Given the description of an element on the screen output the (x, y) to click on. 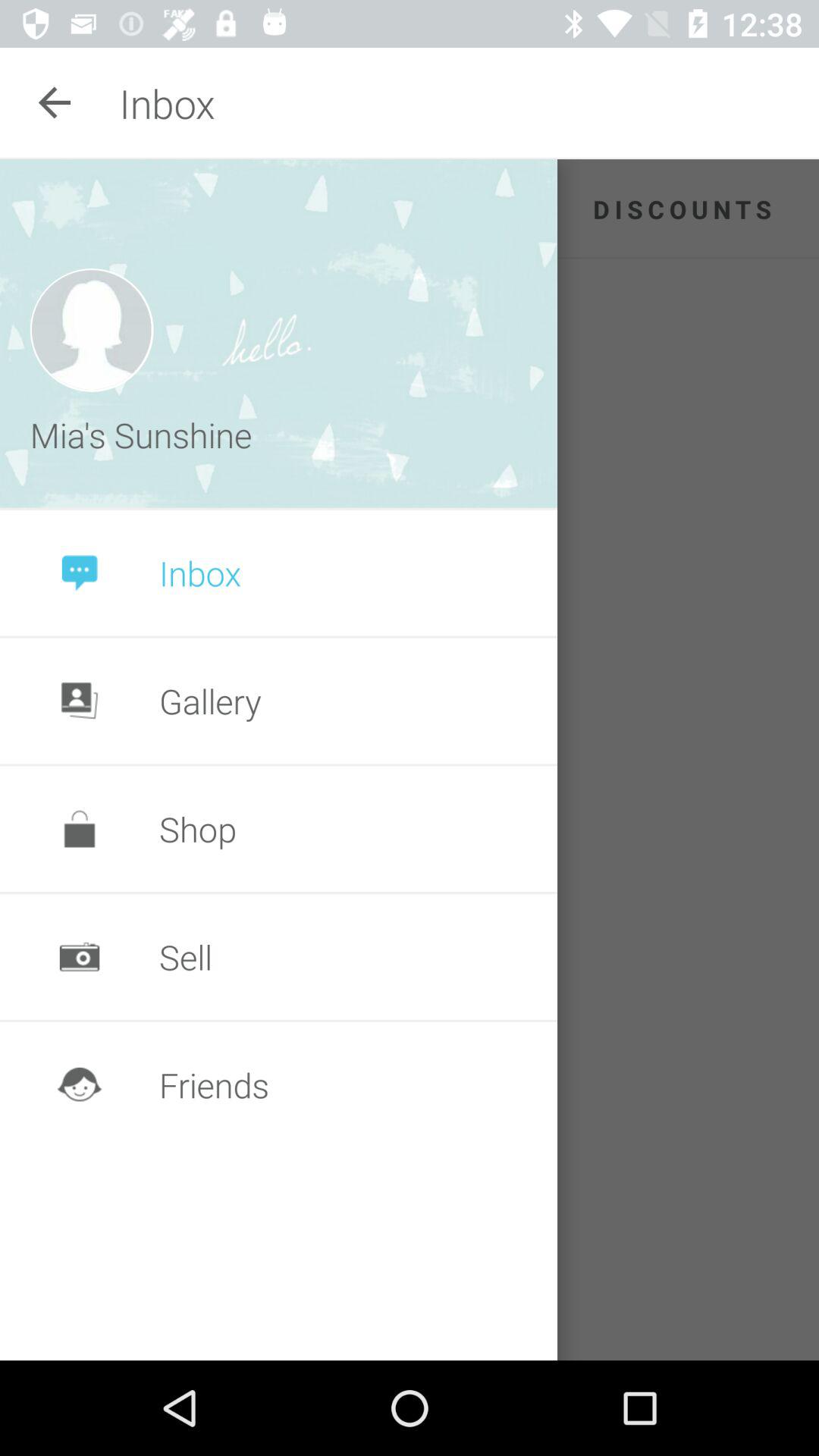
swipe to gallery icon (210, 700)
